Given the description of an element on the screen output the (x, y) to click on. 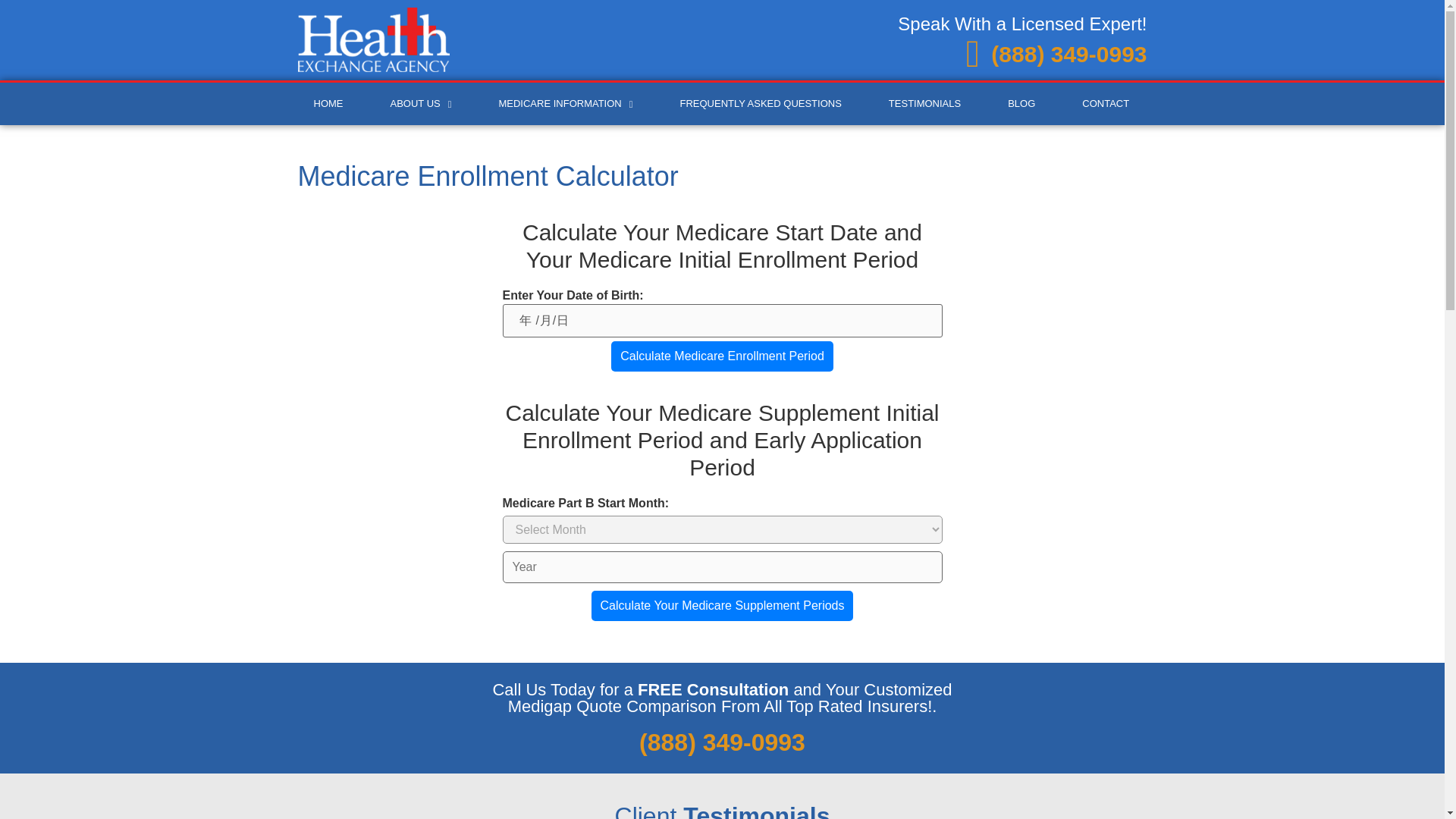
ABOUT US (421, 103)
MEDICARE INFORMATION (565, 103)
HOME (327, 103)
BLOG (1021, 103)
CONTACT (1105, 103)
TESTIMONIALS (924, 103)
FREQUENTLY ASKED QUESTIONS (760, 103)
